Given the description of an element on the screen output the (x, y) to click on. 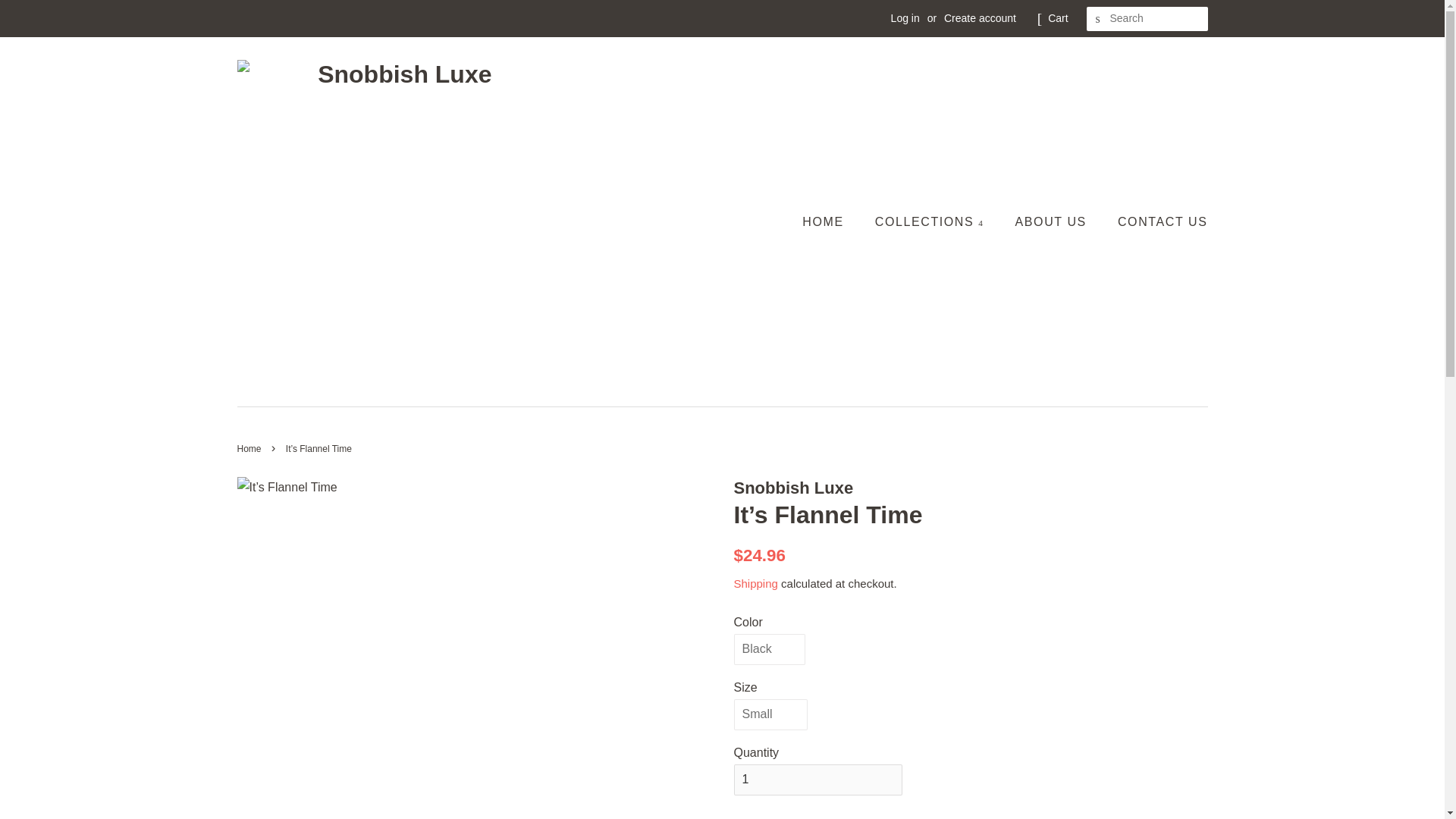
HOME (830, 221)
Create account (979, 18)
Cart (1057, 18)
Log in (905, 18)
Back to the frontpage (249, 448)
COLLECTIONS (930, 221)
ABOUT US (1053, 221)
SEARCH (1097, 18)
1 (817, 779)
